Given the description of an element on the screen output the (x, y) to click on. 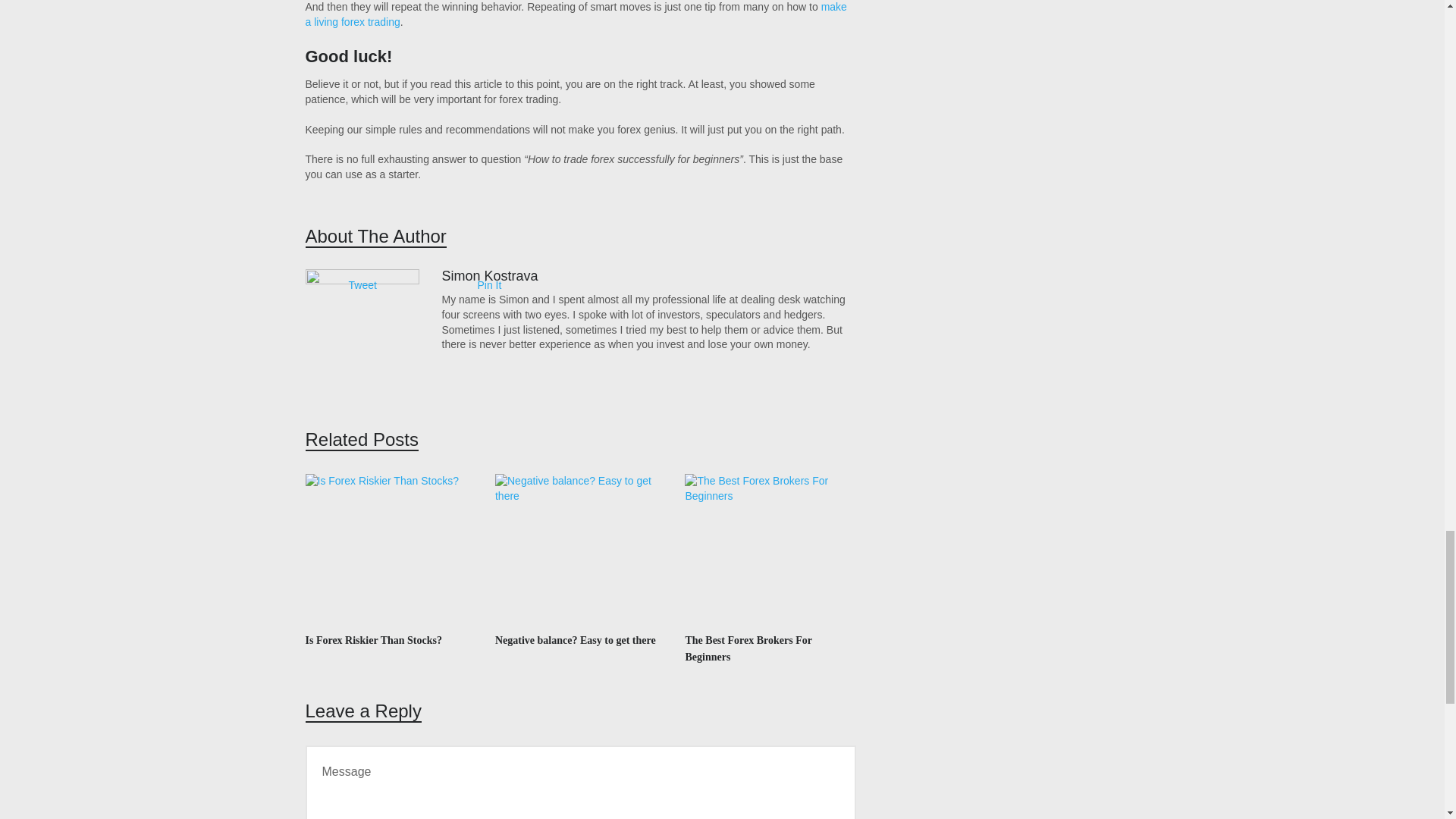
Is Forex Riskier Than Stocks? (372, 640)
Is Forex Riskier Than Stocks? (372, 640)
The Best Forex Brokers For Beginners (770, 549)
Is Forex Riskier Than Stocks? (390, 549)
make a living forex trading (574, 13)
The Best Forex Brokers For Beginners (747, 648)
Simon Kostrava (489, 275)
Negative balance? Easy to get there (580, 549)
Negative balance? Easy to get there (575, 640)
The Best Forex Brokers For Beginners (747, 648)
Negative balance? Easy to get there (575, 640)
